Given the description of an element on the screen output the (x, y) to click on. 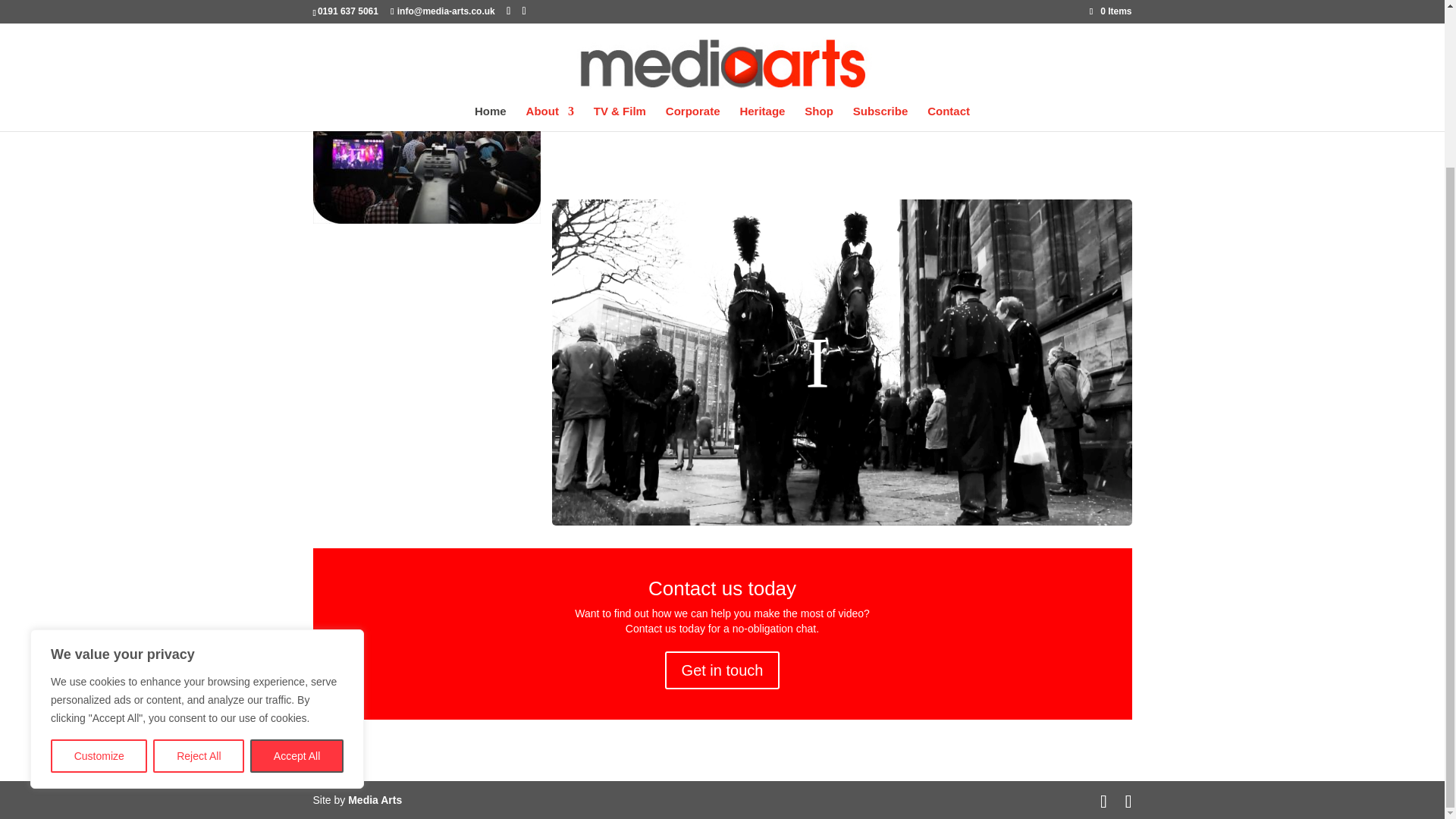
Reject All (198, 556)
Accept All (296, 556)
Customize (98, 556)
